Given the description of an element on the screen output the (x, y) to click on. 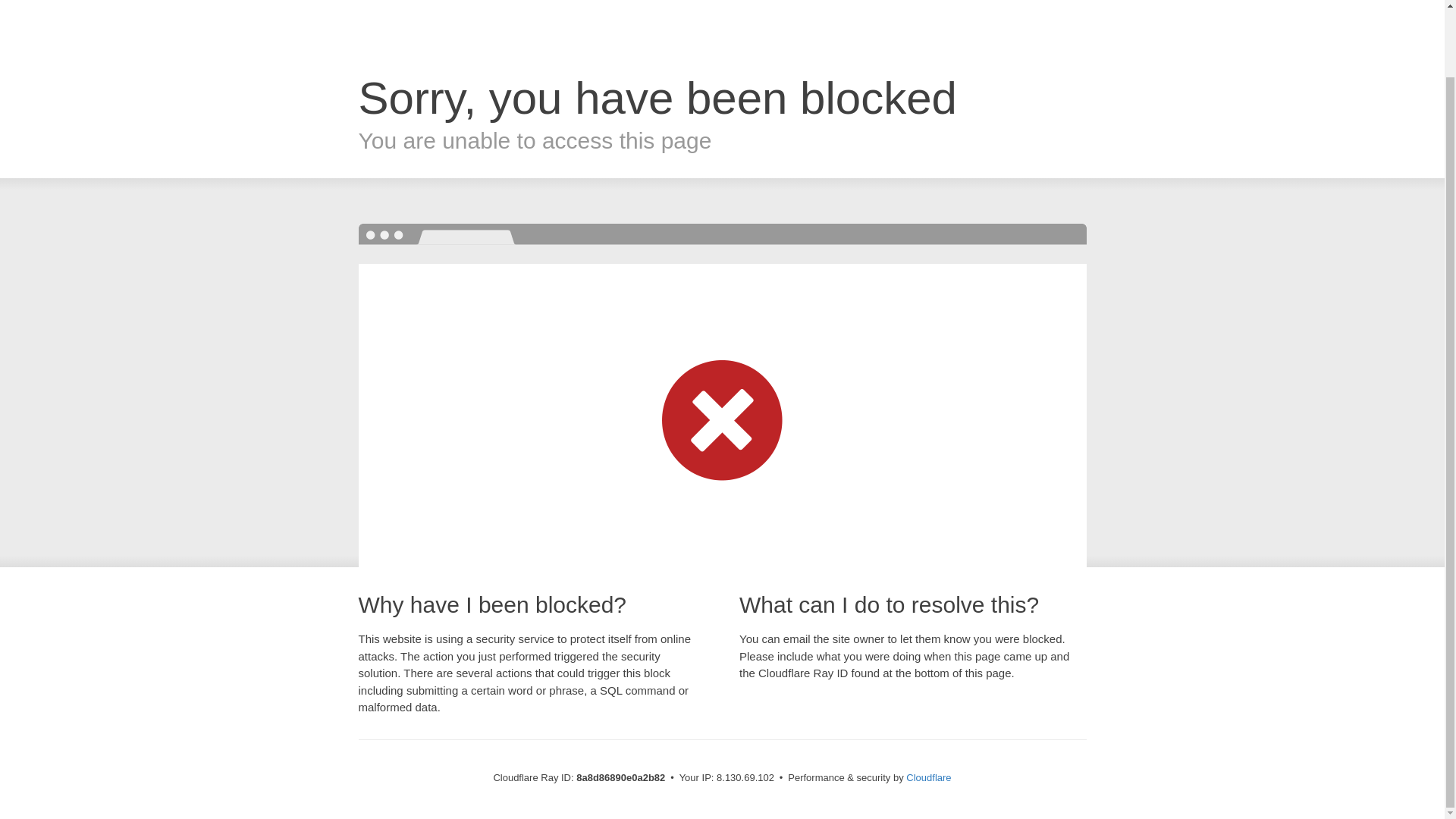
Cloudflare (927, 777)
